Given the description of an element on the screen output the (x, y) to click on. 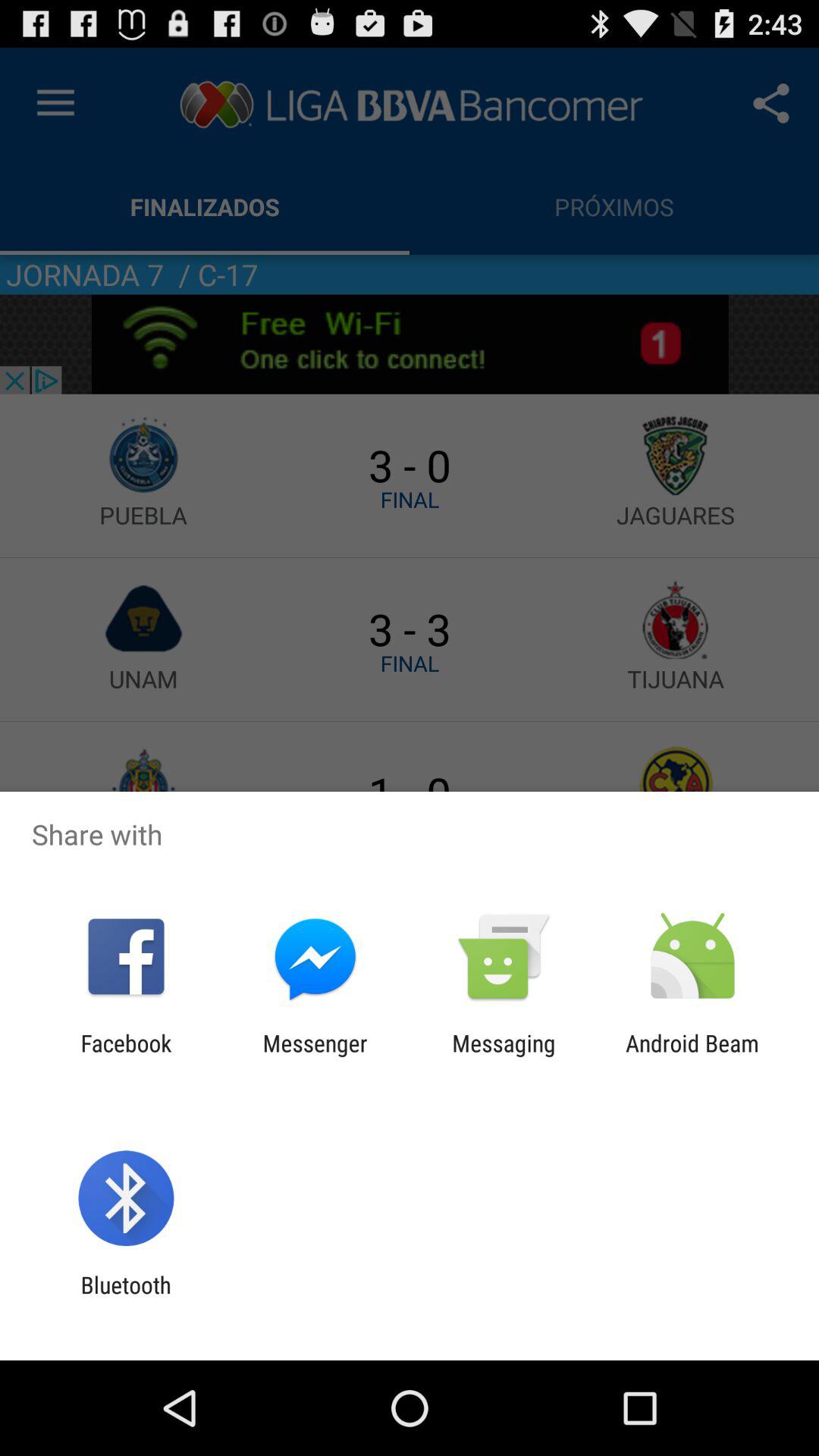
open messenger (314, 1056)
